Given the description of an element on the screen output the (x, y) to click on. 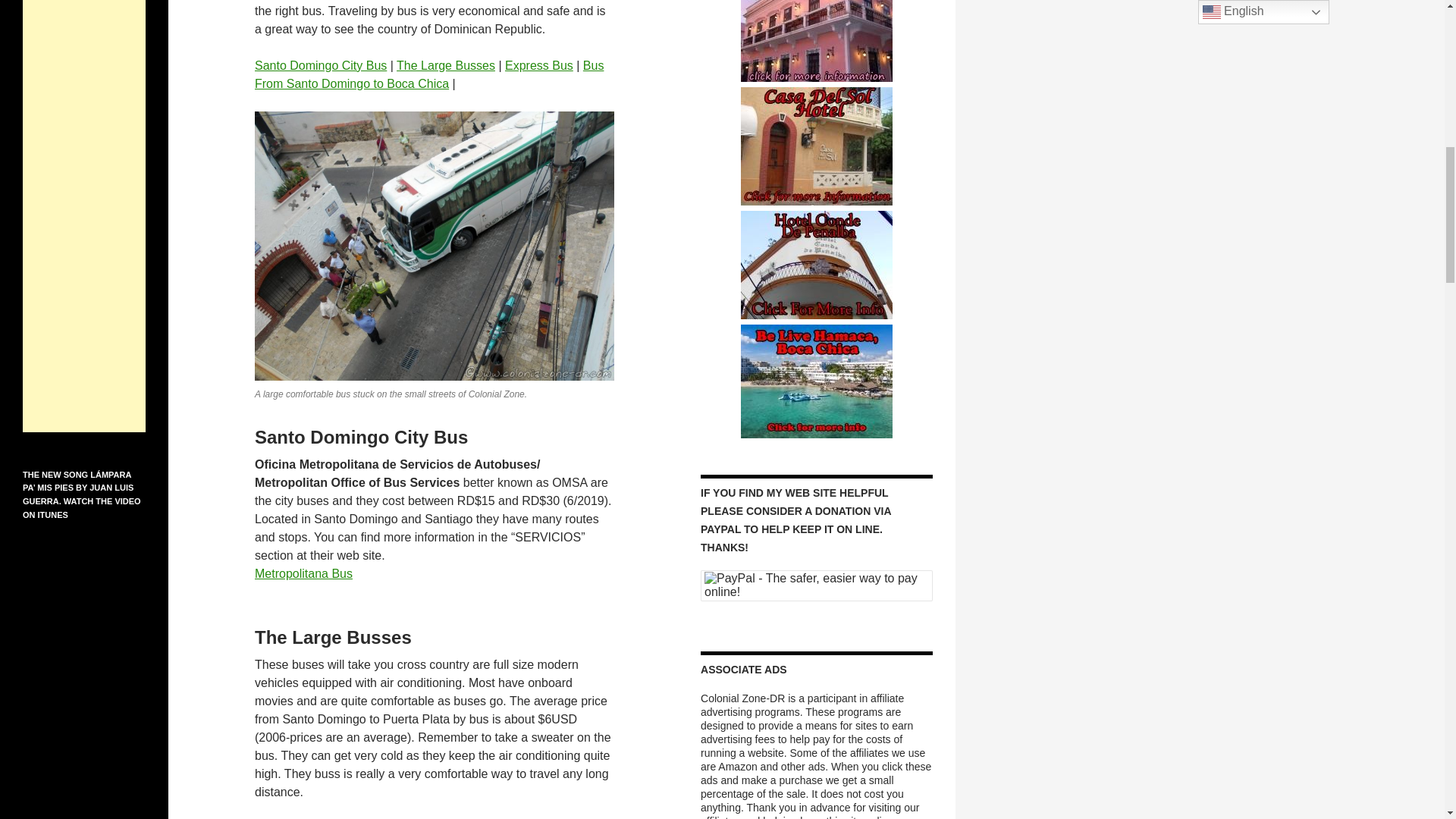
Advertisement (84, 216)
